Given the description of an element on the screen output the (x, y) to click on. 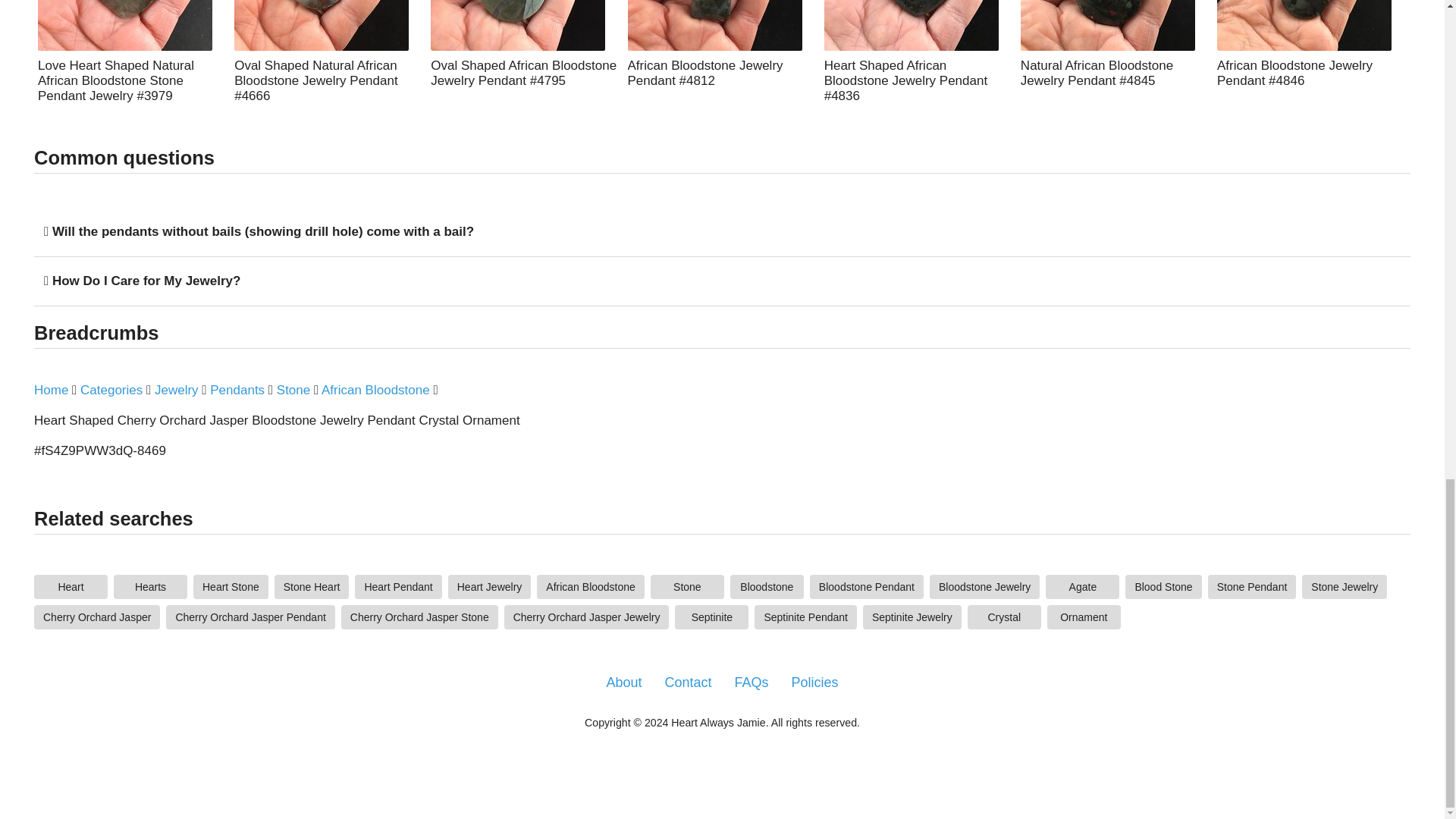
Hearts (150, 586)
Heart Stone (230, 586)
Heart (70, 586)
How Do I Care for My Jewelry? (141, 281)
Heart Jewelry (489, 586)
African Bloodstone (375, 390)
Categories (111, 390)
Heart Pendant (398, 586)
Stone (686, 586)
Stone (293, 390)
Home (50, 390)
Pendants (236, 390)
Stone Heart (312, 586)
African Bloodstone (591, 586)
Bloodstone (766, 586)
